Given the description of an element on the screen output the (x, y) to click on. 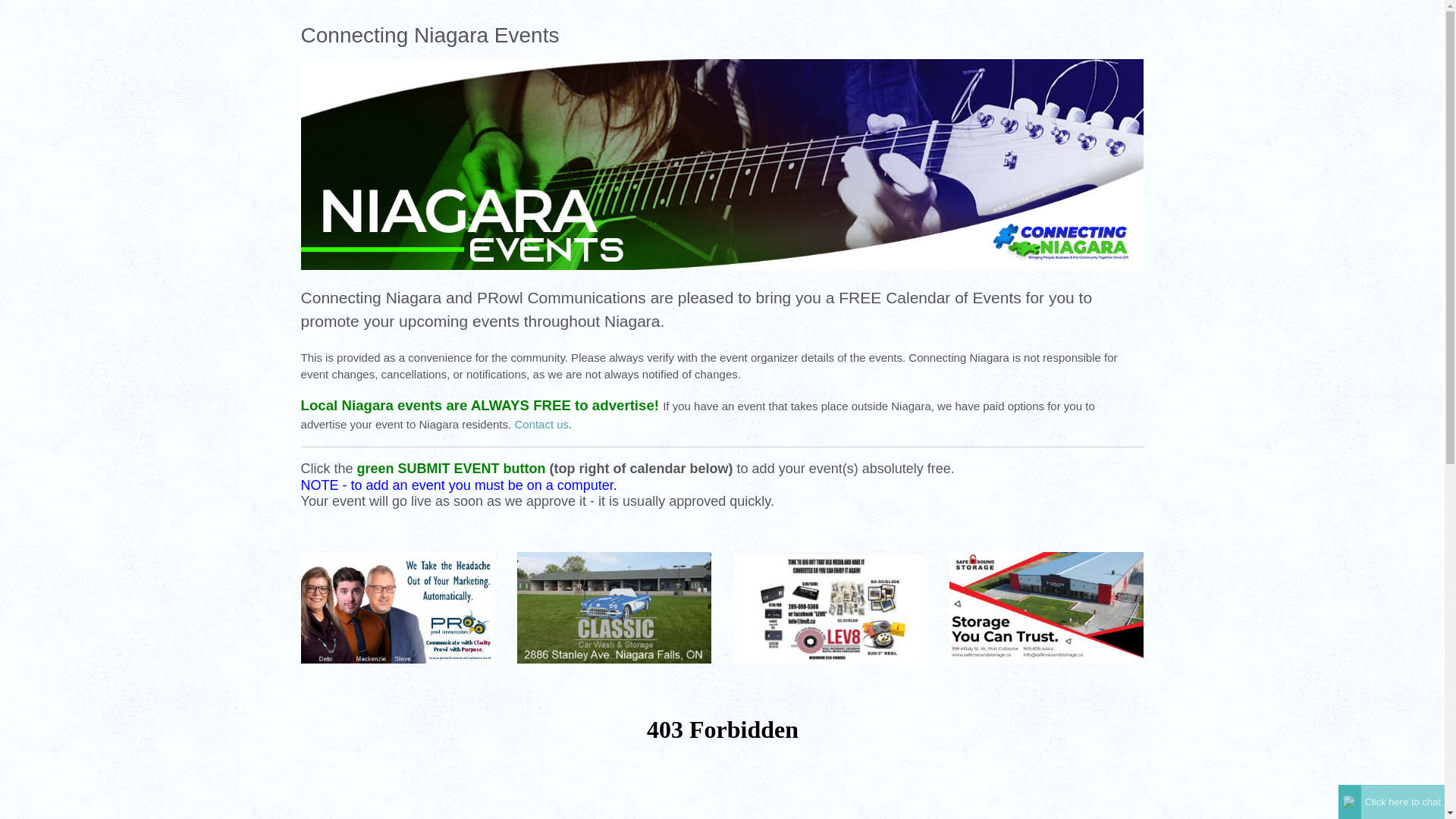
calendar (722, 764)
Contact us (541, 423)
Niagara Events brought to you by Club C Event Centre (722, 162)
Contact Us (541, 423)
Online (1349, 801)
